Given the description of an element on the screen output the (x, y) to click on. 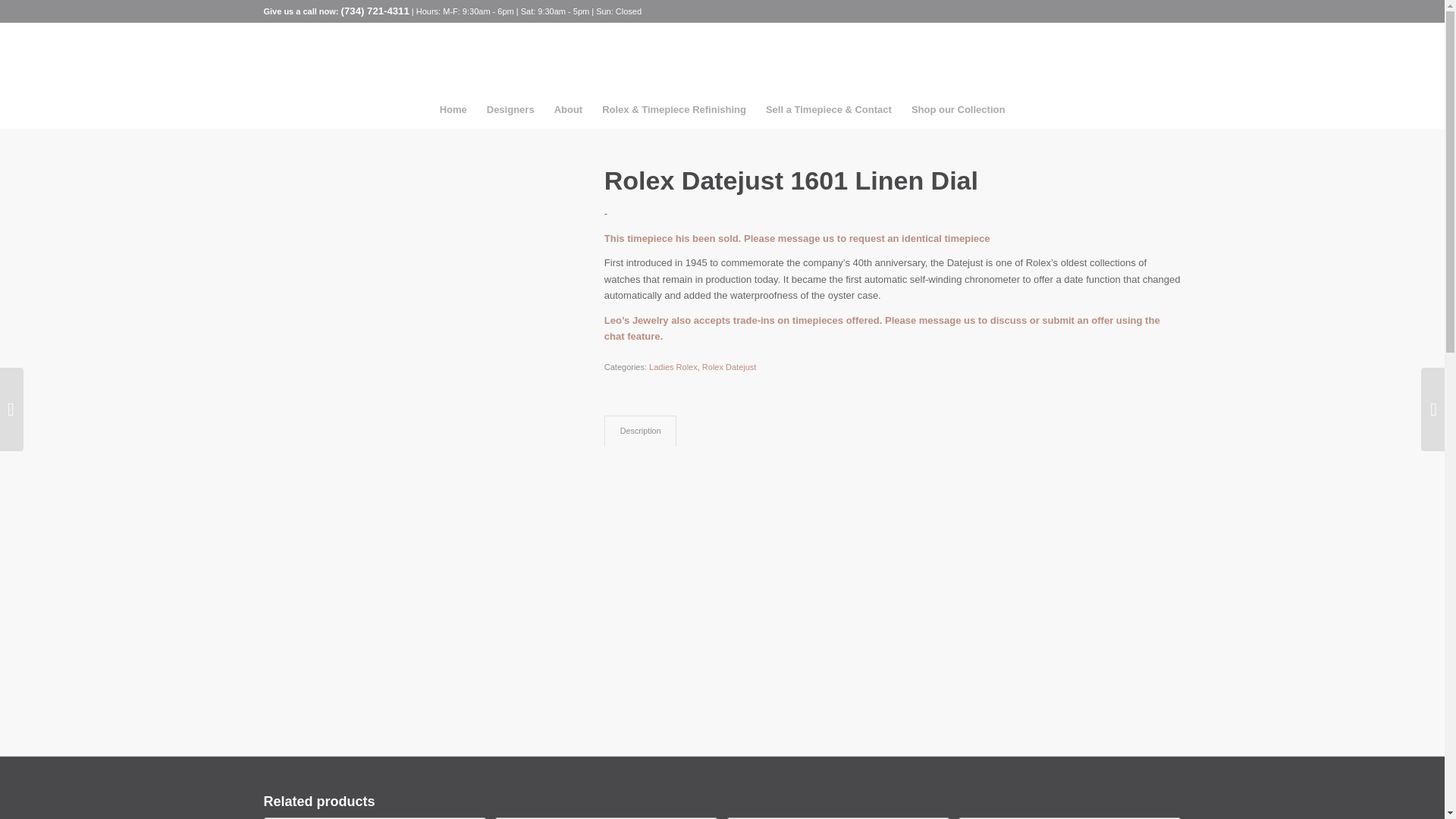
Home (453, 109)
Designers (510, 109)
About (568, 109)
